Given the description of an element on the screen output the (x, y) to click on. 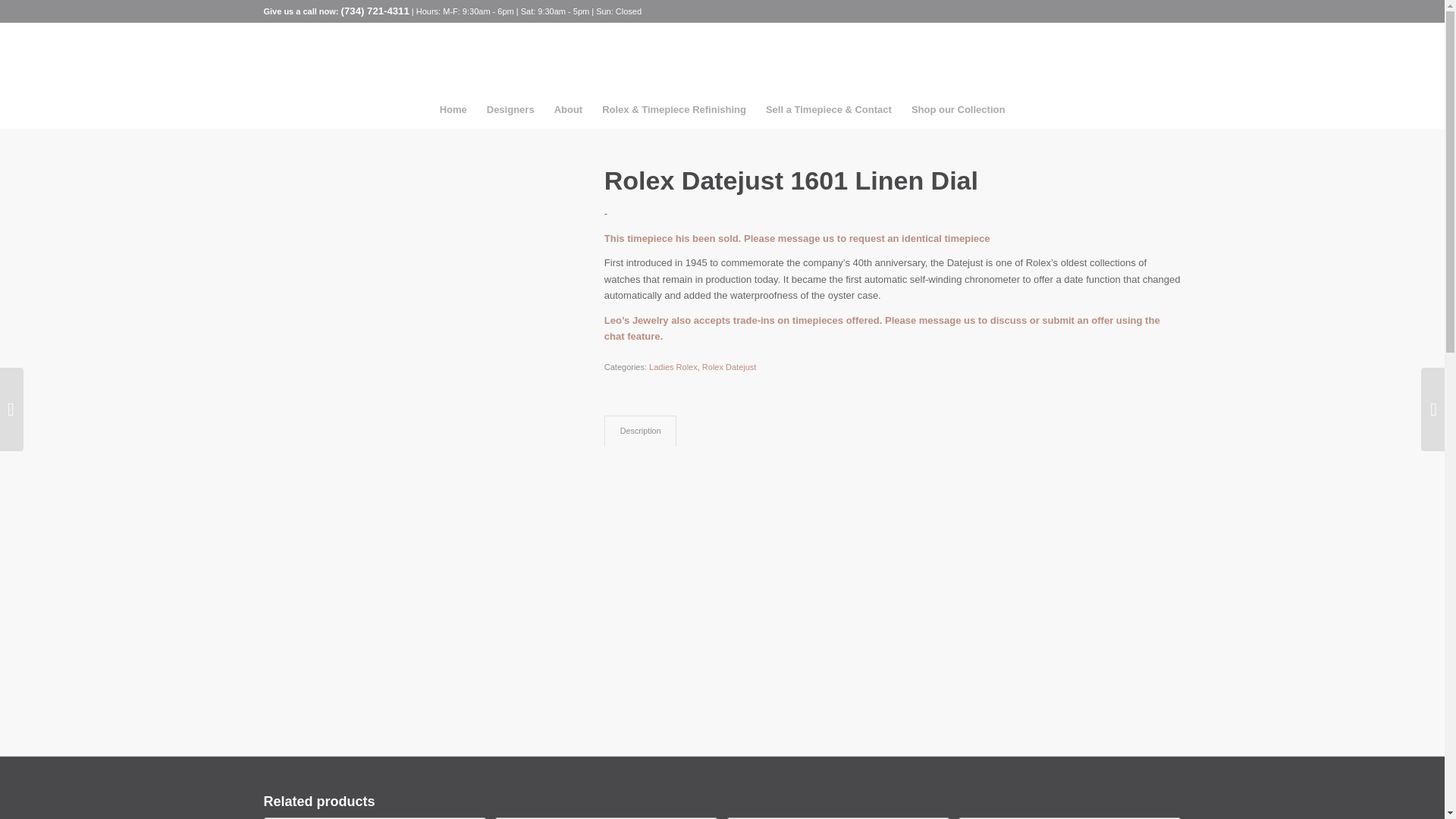
Home (453, 109)
Designers (510, 109)
About (568, 109)
